Given the description of an element on the screen output the (x, y) to click on. 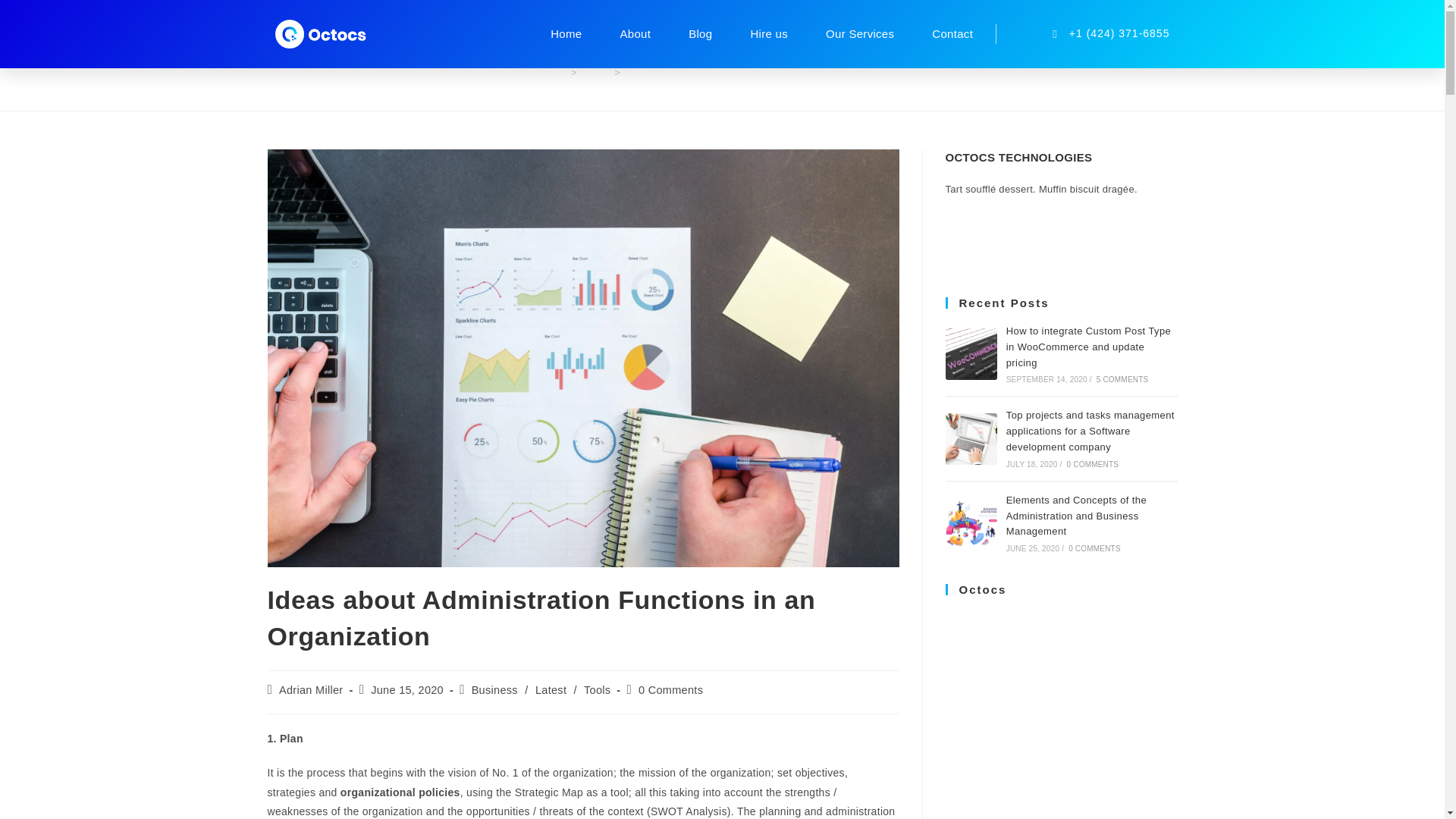
0 Comments (671, 689)
Business (494, 689)
Posts by Adrian Miller (310, 689)
Latest (595, 71)
Ideas about Administration Functions in an Organization (753, 71)
Adrian Miller (310, 689)
Latest (550, 689)
Tools (596, 689)
Our Services (859, 33)
